Given the description of an element on the screen output the (x, y) to click on. 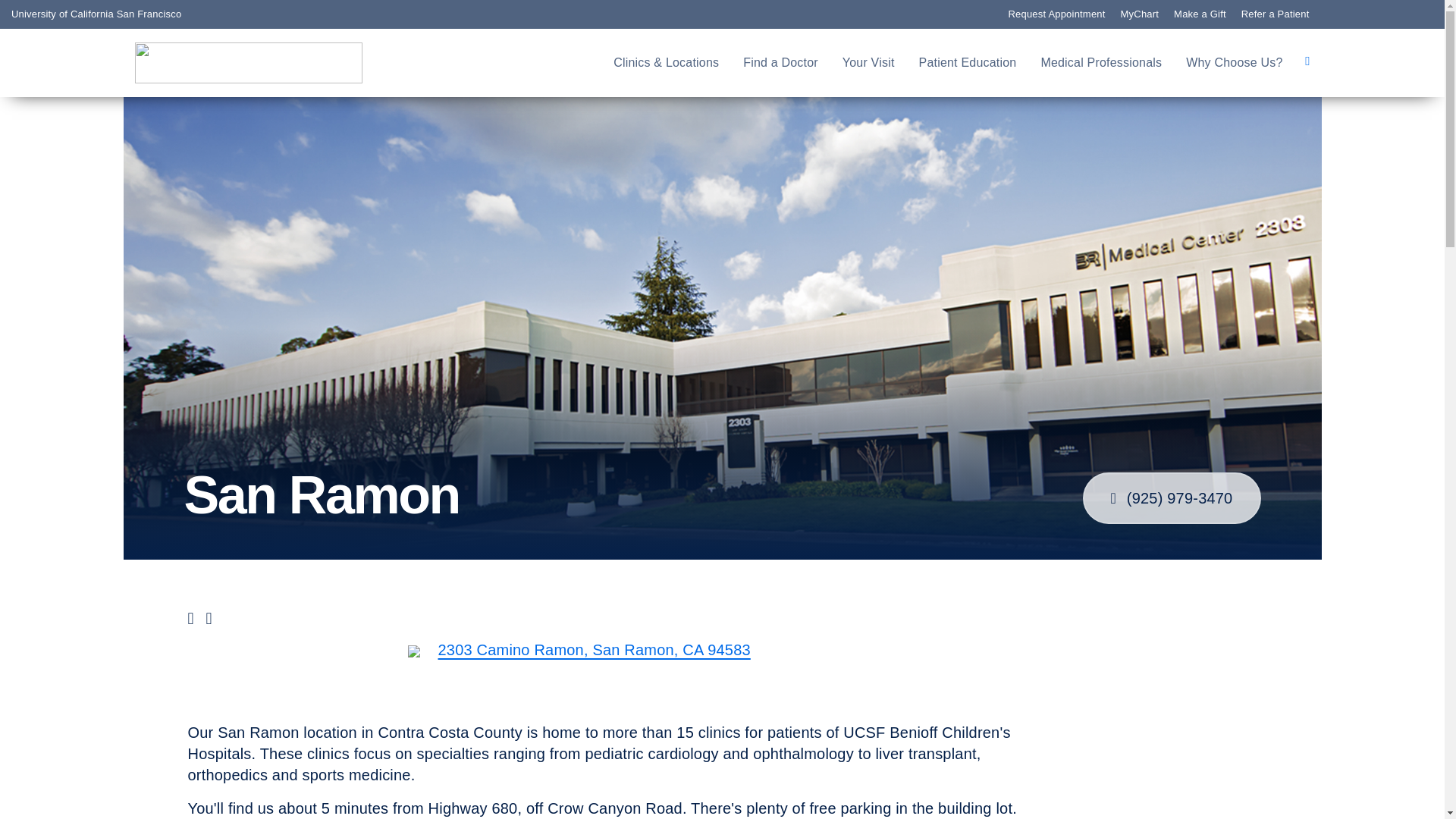
Patient Education (968, 62)
 Find a Doctor (107, 242)
 Child Life (93, 311)
Your Visit (868, 62)
Request an Appointment (145, 220)
University of California San Francisco (95, 13)
Find a Doctor (779, 62)
 Medical Records (118, 333)
 Clinics A-Z (98, 265)
Homepage icon (248, 62)
